Given the description of an element on the screen output the (x, y) to click on. 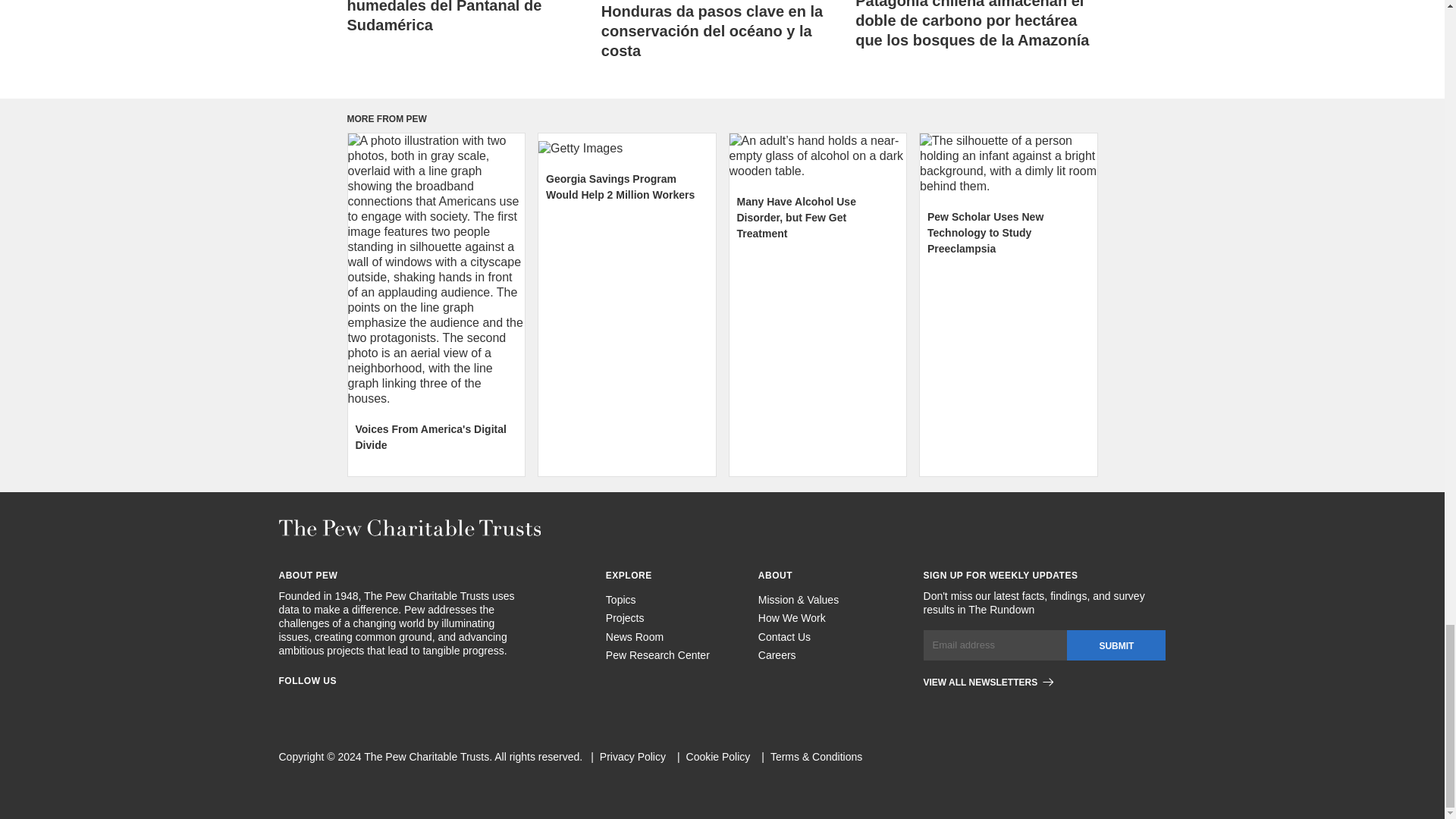
Facebook (285, 704)
YouTube (421, 704)
Follow us on twitter  (367, 704)
Getty Images (627, 148)
LinkedIn (340, 704)
RSS (394, 704)
Instagram (312, 704)
